Given the description of an element on the screen output the (x, y) to click on. 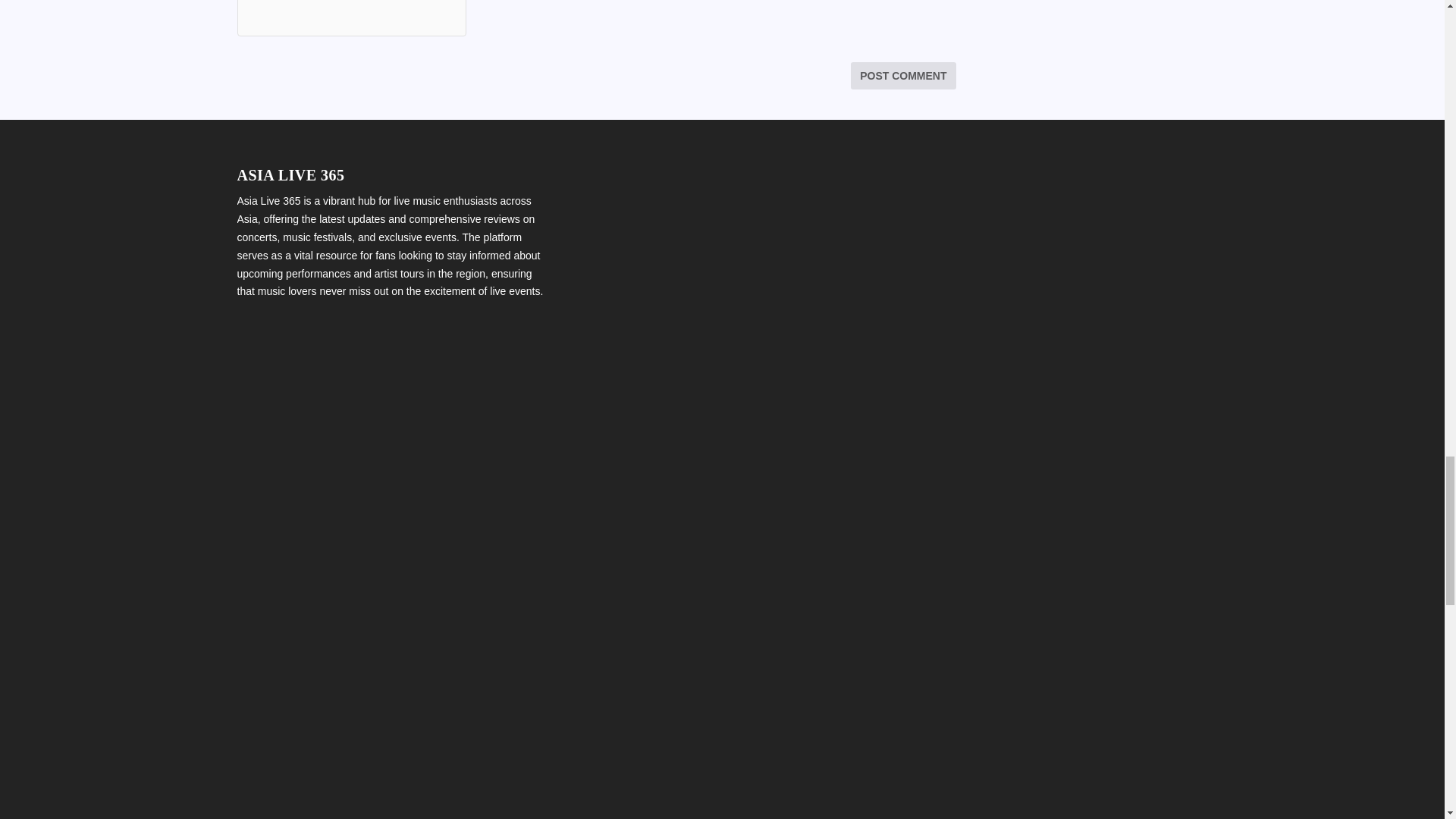
Post Comment (902, 75)
